Given the description of an element on the screen output the (x, y) to click on. 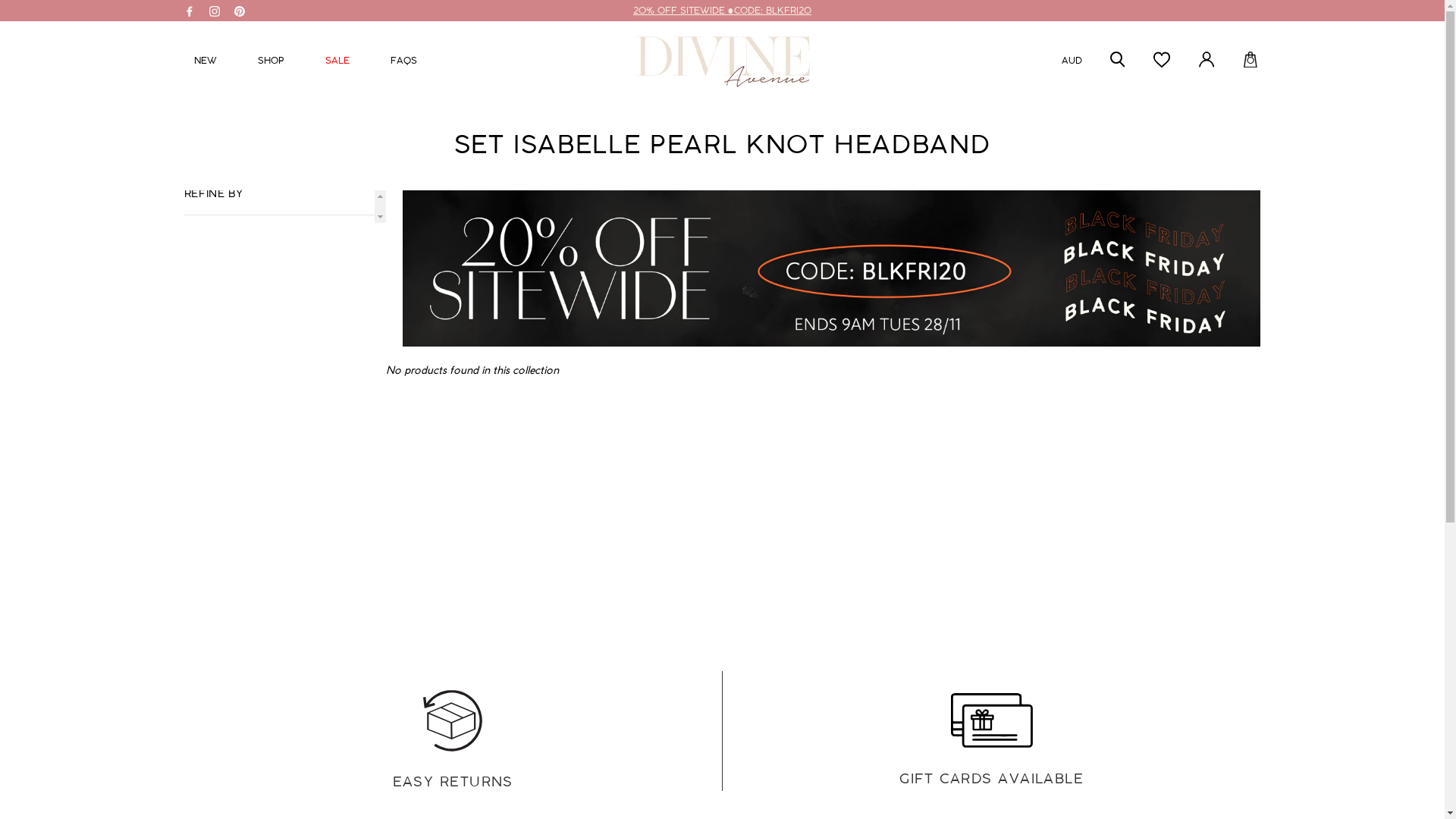
FACEBOOK Element type: text (188, 8)
INSTAGRAM Element type: text (214, 8)
PINTEREST Element type: text (238, 8)
Search Element type: text (1117, 61)
Log in Element type: text (1206, 61)
View Wishlist Element type: hover (1161, 61)
SALE Element type: text (337, 62)
Skip to content Element type: text (0, 0)
FAQS Element type: text (403, 62)
SHOP Element type: text (270, 62)
NEW Element type: text (204, 62)
0 Element type: text (1250, 61)
